Given the description of an element on the screen output the (x, y) to click on. 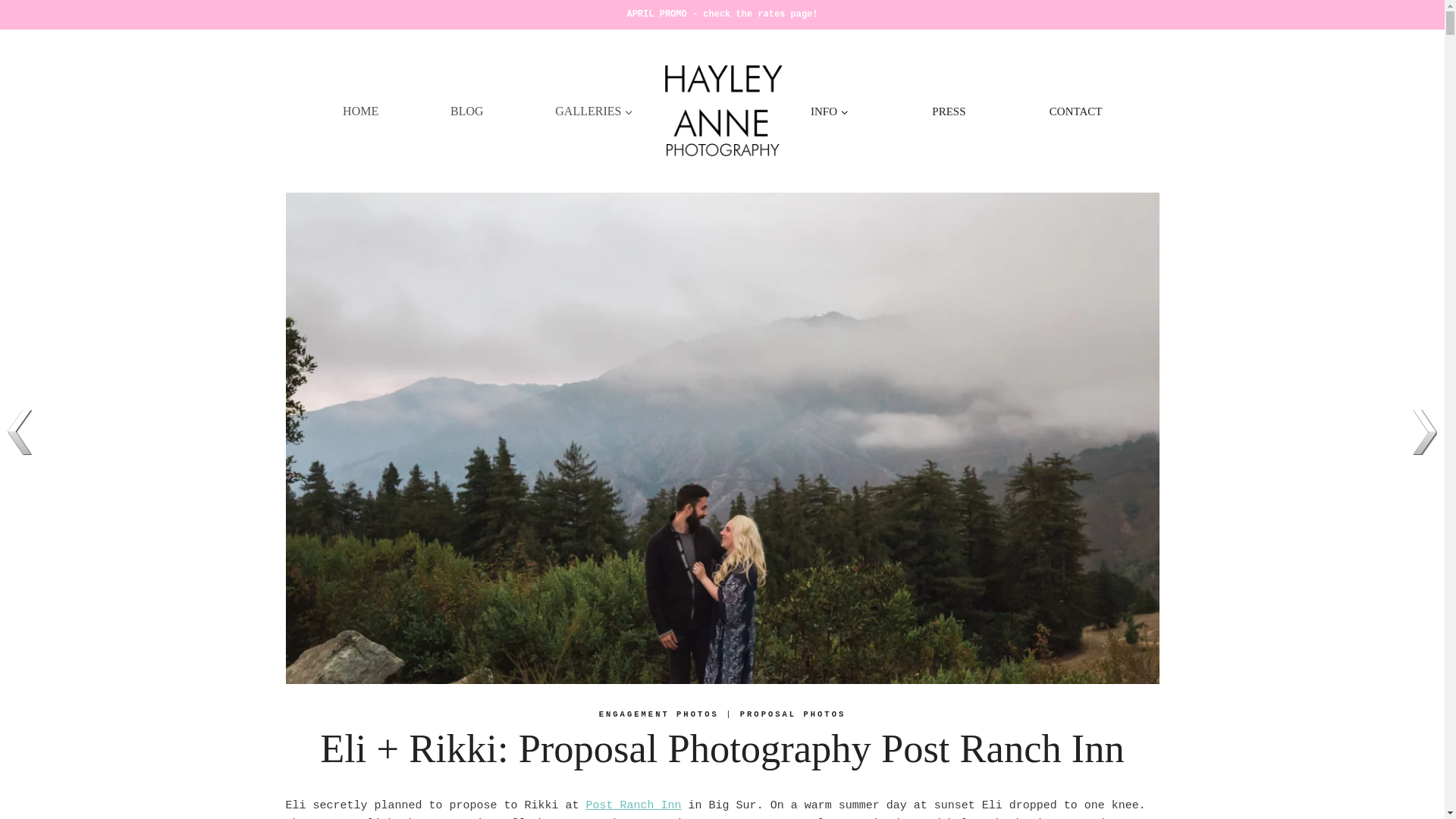
ENGAGEMENT PHOTOS (658, 714)
CONTACT (1075, 111)
GALLERIES (594, 110)
Post Ranch Inn (633, 805)
PROPOSAL PHOTOS (792, 714)
BLOG (466, 110)
PRESS (948, 111)
INFO (829, 111)
HOME (359, 110)
